Given the description of an element on the screen output the (x, y) to click on. 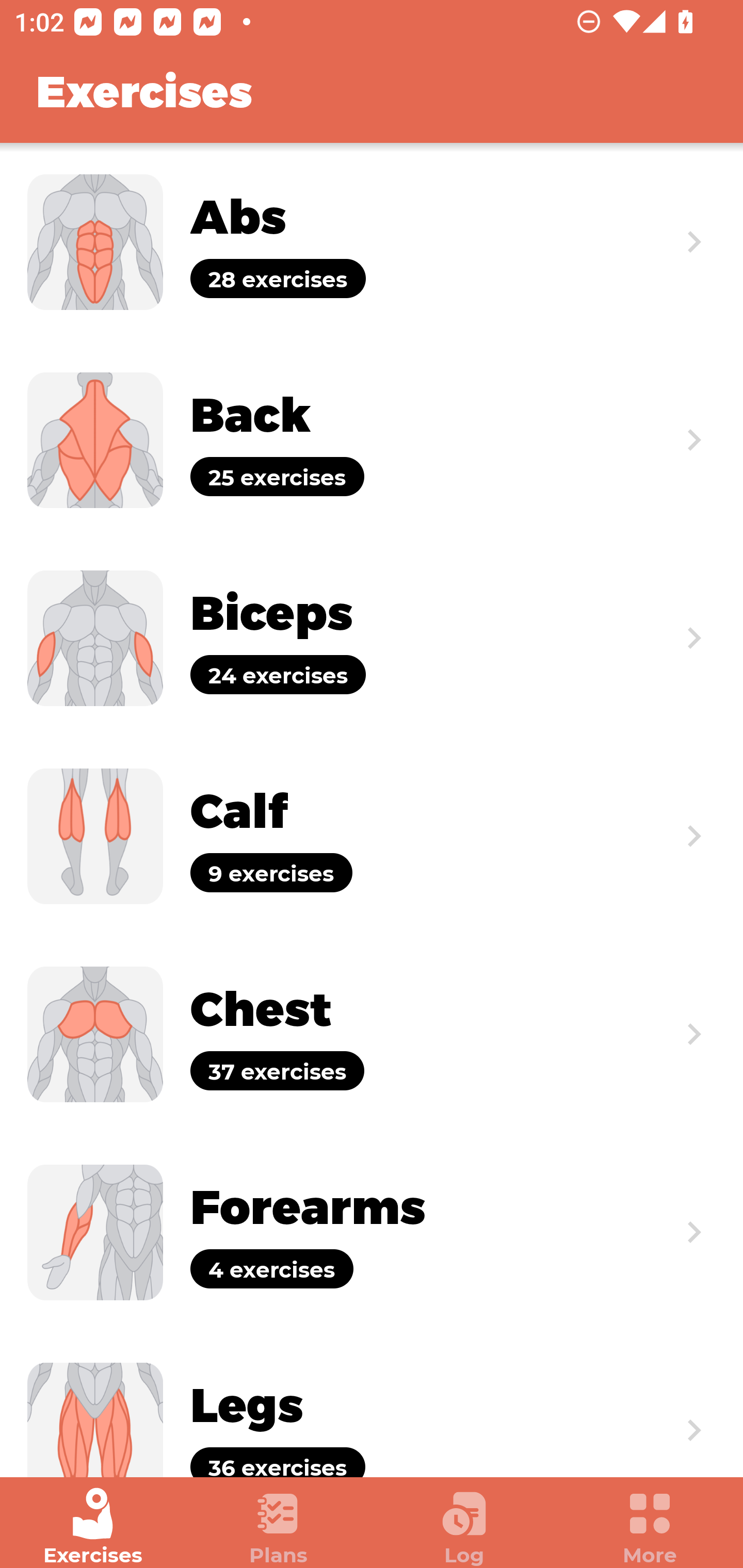
Exercise Abs 28 exercises (371, 241)
Exercise Back 25 exercises (371, 439)
Exercise Biceps 24 exercises (371, 637)
Exercise Calf 9 exercises (371, 836)
Exercise Chest 37 exercises (371, 1033)
Exercise Forearms 4 exercises (371, 1232)
Exercise Legs 36 exercises (371, 1404)
Exercises (92, 1527)
Plans (278, 1527)
Log (464, 1527)
More (650, 1527)
